Given the description of an element on the screen output the (x, y) to click on. 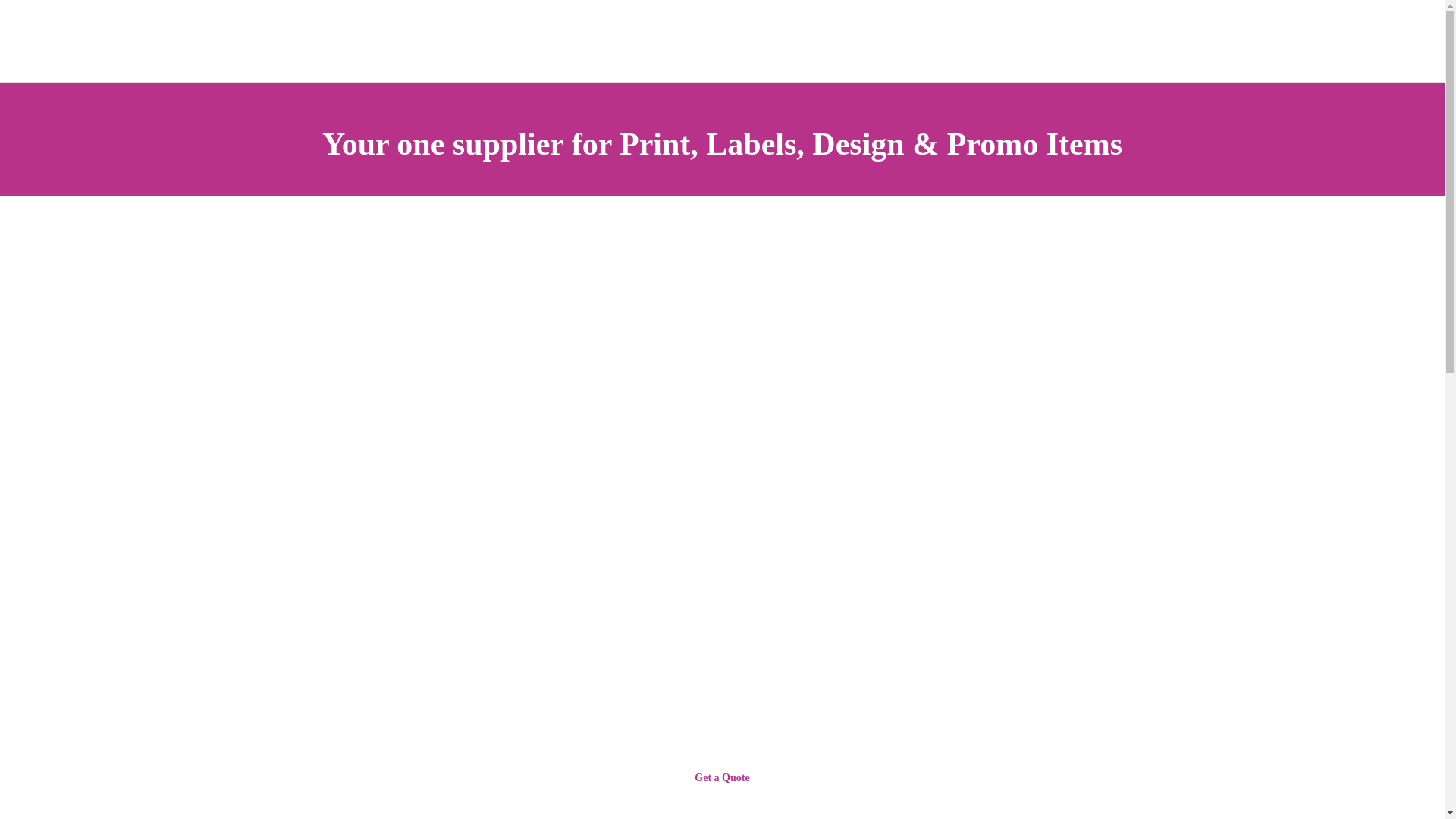
Get a Quote (721, 777)
Contact (721, 777)
